Given the description of an element on the screen output the (x, y) to click on. 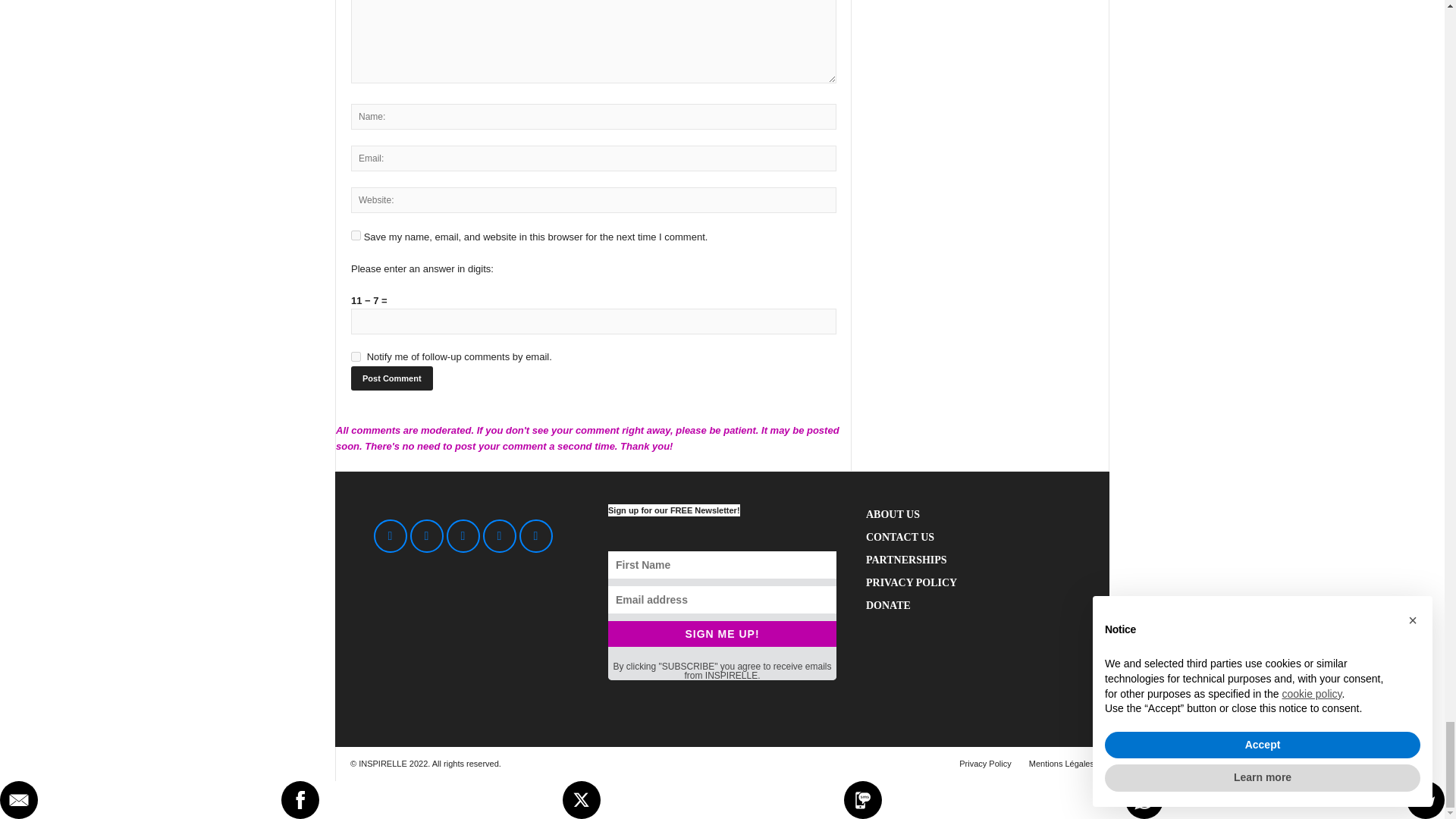
subscribe (355, 356)
Post Comment (391, 378)
yes (355, 235)
